Given the description of an element on the screen output the (x, y) to click on. 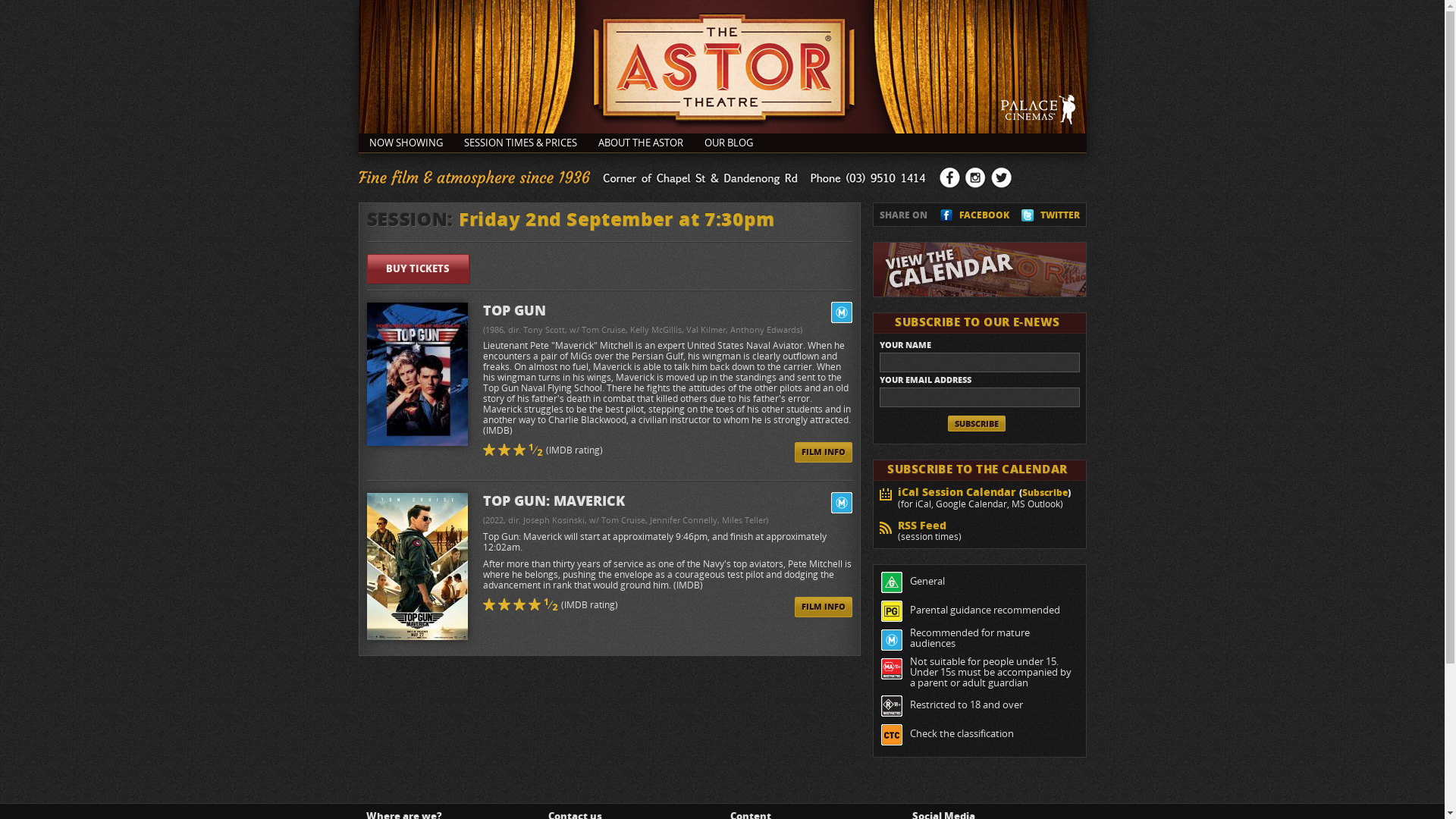
4.3 Element type: hover (519, 603)
Click to share on Twitter Element type: hover (1027, 217)
Instagram Element type: text (975, 177)
3.45 Element type: hover (536, 448)
OUR BLOG Element type: text (727, 142)
TOP GUN: MAVERICK Element type: text (666, 503)
Subscribe Element type: text (1044, 492)
SESSION TIMES & PRICES Element type: text (520, 142)
3.45 Element type: hover (489, 448)
RSS Feed Element type: text (921, 524)
Facebook Element type: text (949, 177)
TOP GUN Element type: text (666, 312)
FACEBOOK Element type: text (983, 214)
TWITTER Element type: text (1059, 214)
NOW SHOWING Element type: text (405, 142)
4.3 Element type: hover (534, 603)
Twitter Element type: text (1001, 177)
4.3 Element type: hover (504, 603)
3.45 Element type: hover (519, 448)
Click to share on Facebook Element type: hover (945, 217)
4.3 Element type: hover (489, 603)
FILM INFO Element type: text (823, 452)
The Astor Theatre - Palace Cinemas Element type: hover (721, 66)
3.45 Element type: hover (504, 448)
SUBSCRIBE Element type: text (976, 423)
FILM INFO Element type: text (823, 606)
SESSION: Friday 2nd September at 7:30pm Element type: text (571, 219)
BUY TICKETS Element type: text (418, 268)
4.3 Element type: hover (551, 603)
iCal Session Calendar Element type: text (956, 491)
ABOUT THE ASTOR Element type: text (639, 142)
